Given the description of an element on the screen output the (x, y) to click on. 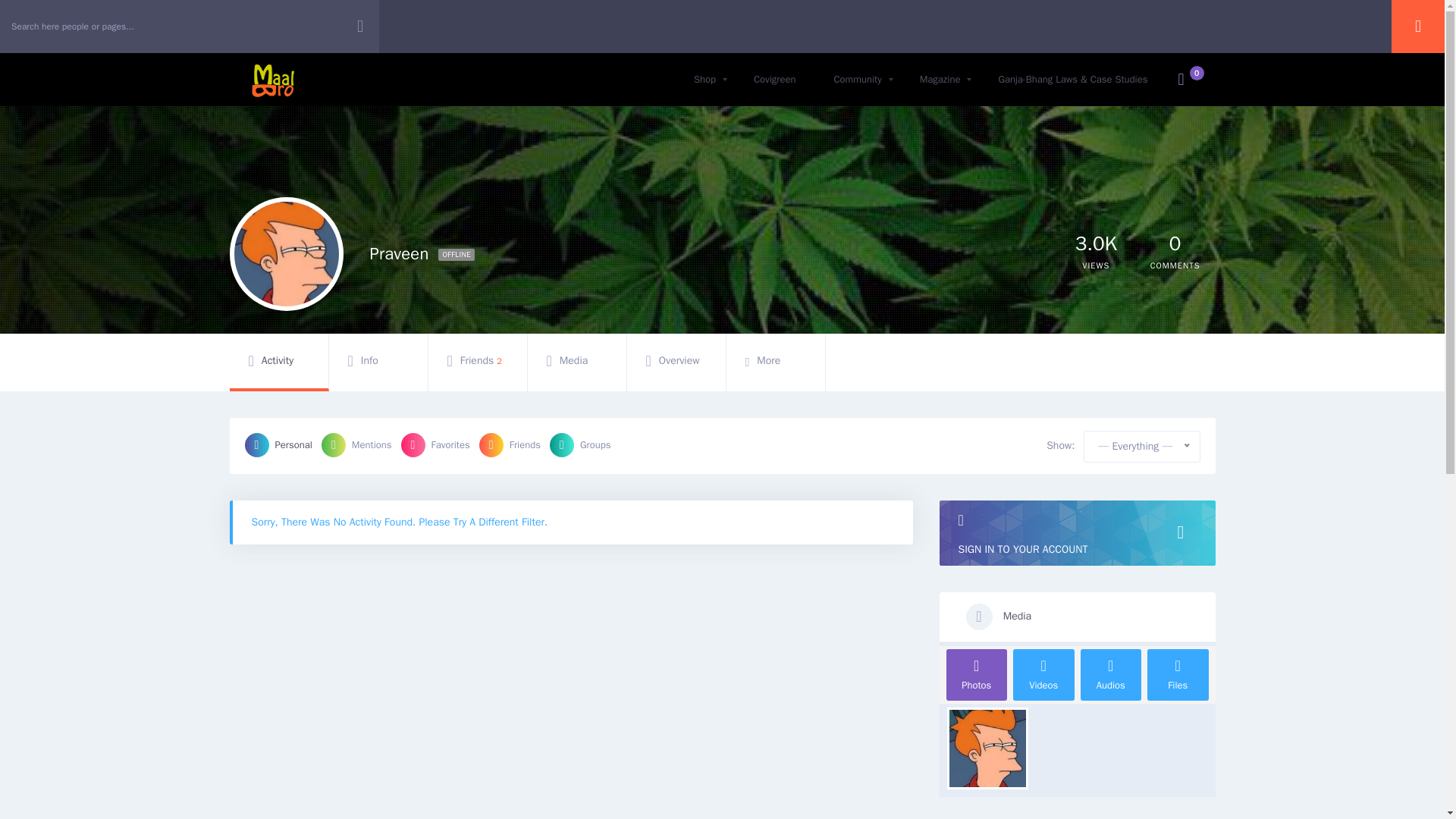
Covigreen (775, 79)
Shop (705, 79)
More (775, 360)
Activity (277, 360)
Mentions (356, 445)
Magazine (940, 79)
Favorites (435, 445)
Friends (509, 445)
Media (576, 360)
3016 (1095, 244)
Overview (1095, 254)
0 (675, 360)
Personal (1174, 244)
